Given the description of an element on the screen output the (x, y) to click on. 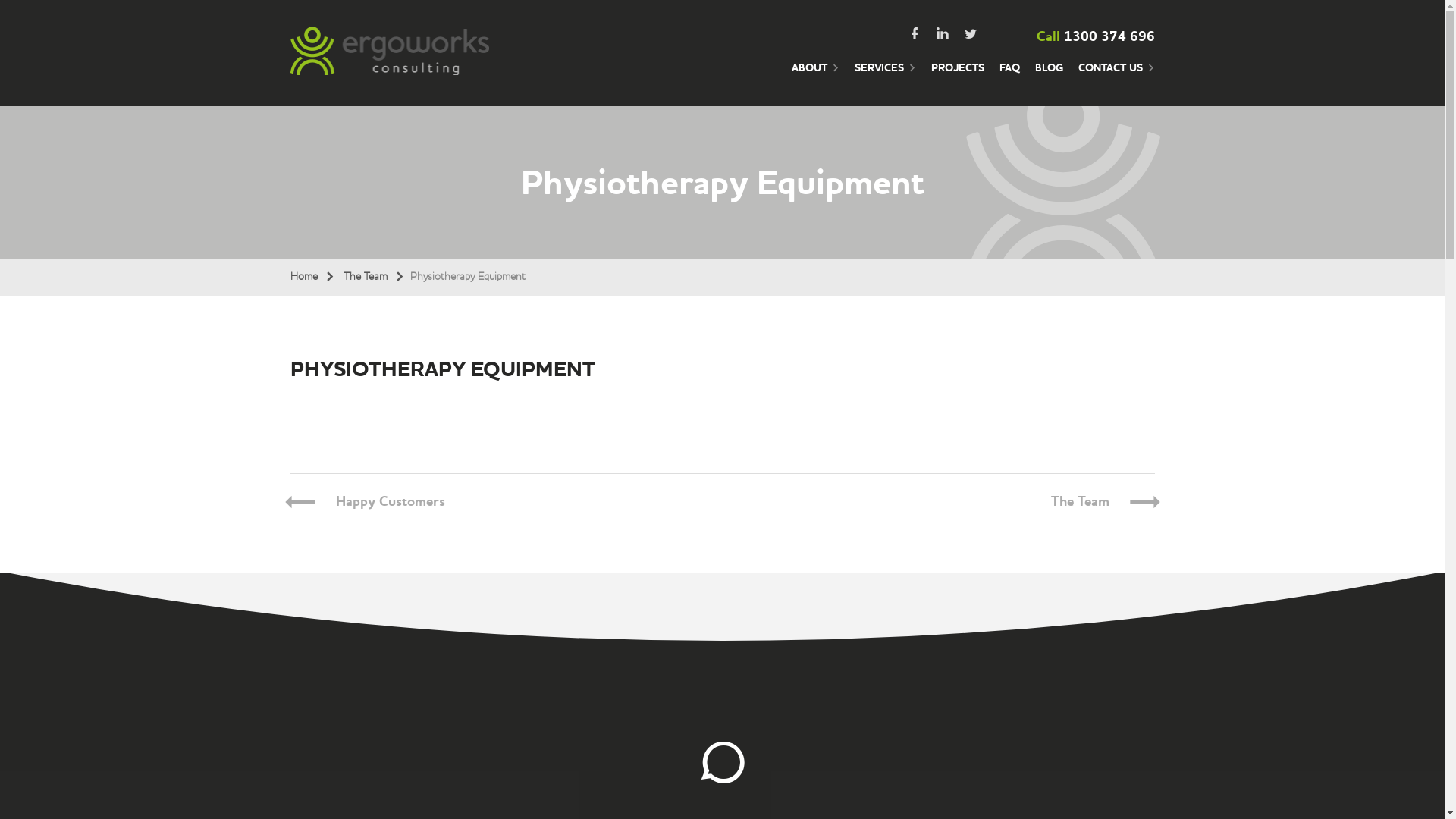
Happy Customers Element type: text (389, 501)
The Team Element type: text (1080, 501)
SERVICES Element type: text (884, 76)
1300 374 696 Element type: text (1108, 36)
PROJECTS Element type: text (957, 76)
The Team Element type: text (372, 276)
Home Element type: text (311, 276)
ABOUT Element type: text (815, 76)
CONTACT US Element type: text (1116, 76)
FAQ Element type: text (1009, 76)
BLOG Element type: text (1048, 76)
